Given the description of an element on the screen output the (x, y) to click on. 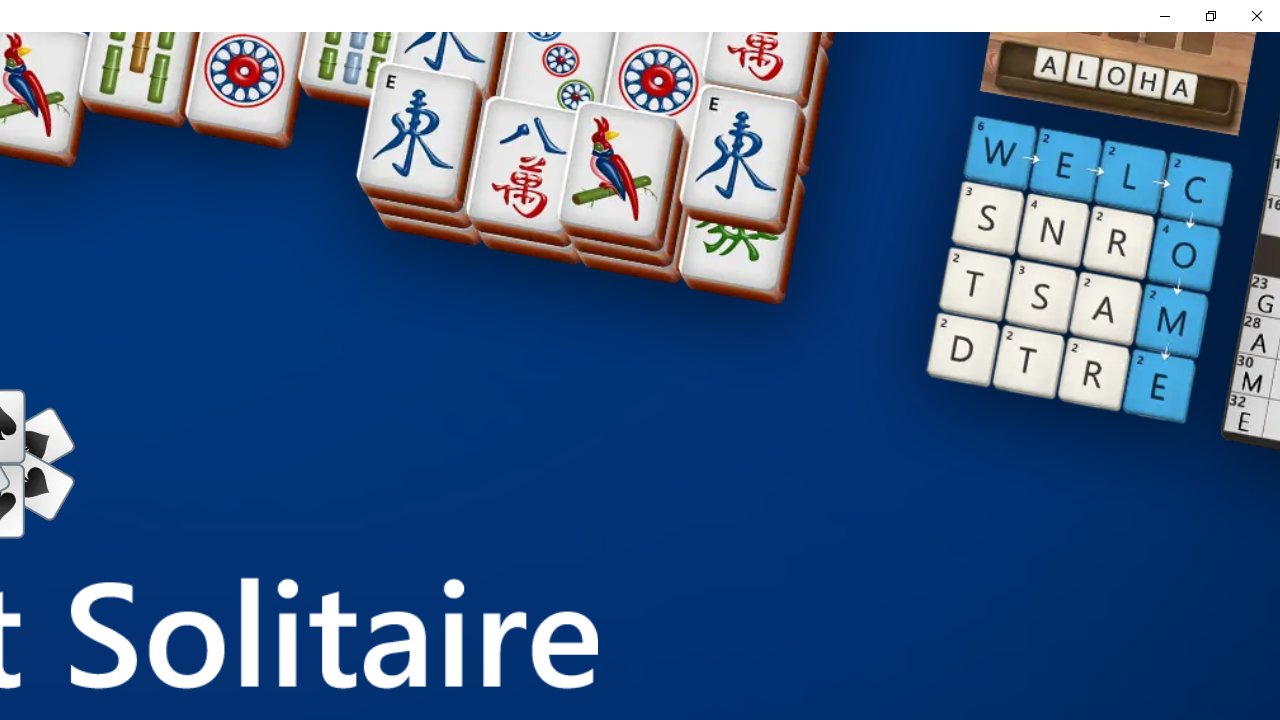
Restore Solitaire & Casual Games (1210, 15)
Minimize Solitaire & Casual Games (1164, 15)
Close Solitaire & Casual Games (1256, 15)
